Given the description of an element on the screen output the (x, y) to click on. 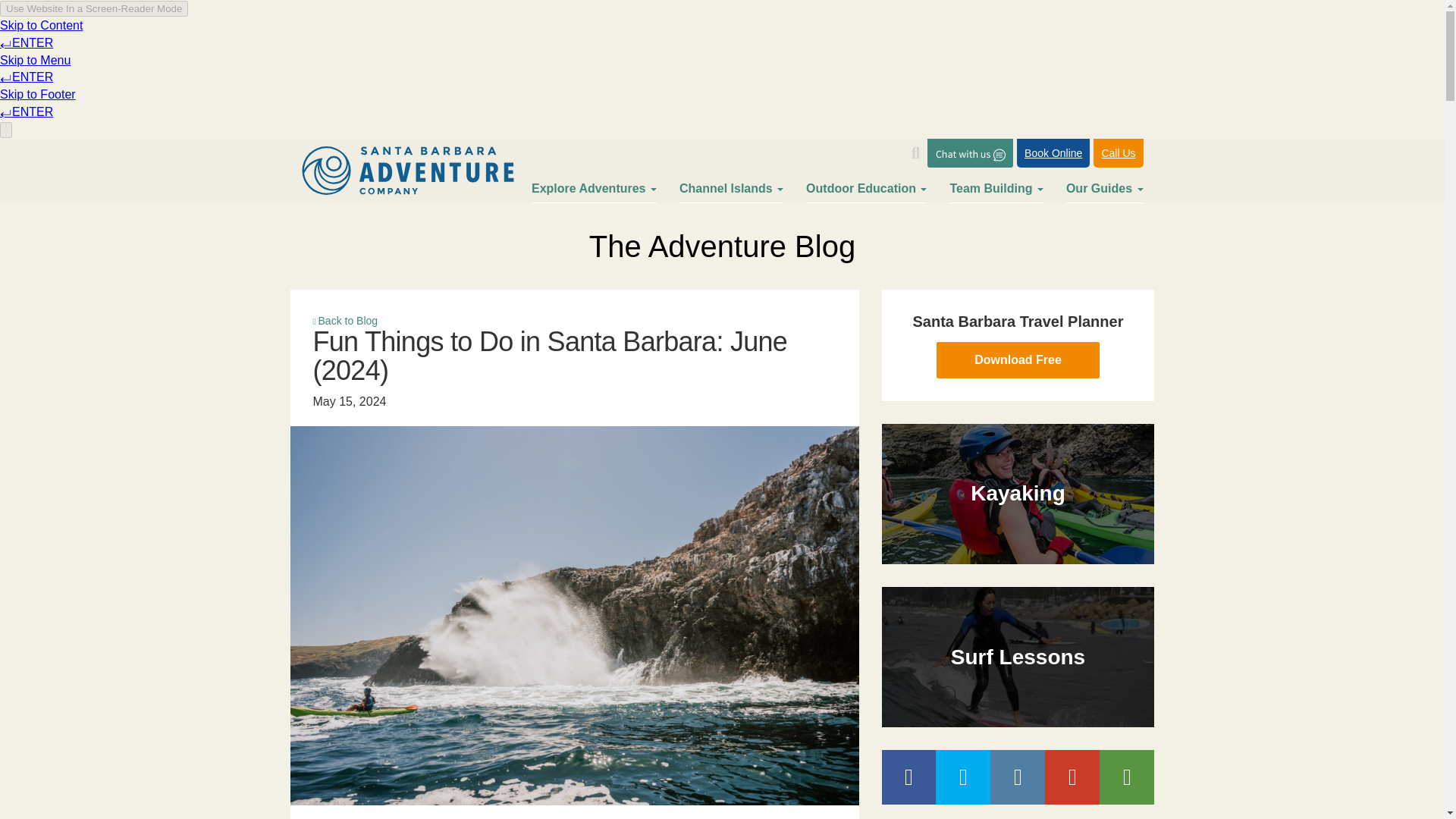
Call Us (1117, 152)
Channel Islands (731, 192)
Explore Adventures (593, 192)
Outdoor Education (866, 192)
Channel Islands (731, 192)
Book Online (1053, 152)
Outdoor Education (866, 192)
Explore Adventures (593, 192)
